Given the description of an element on the screen output the (x, y) to click on. 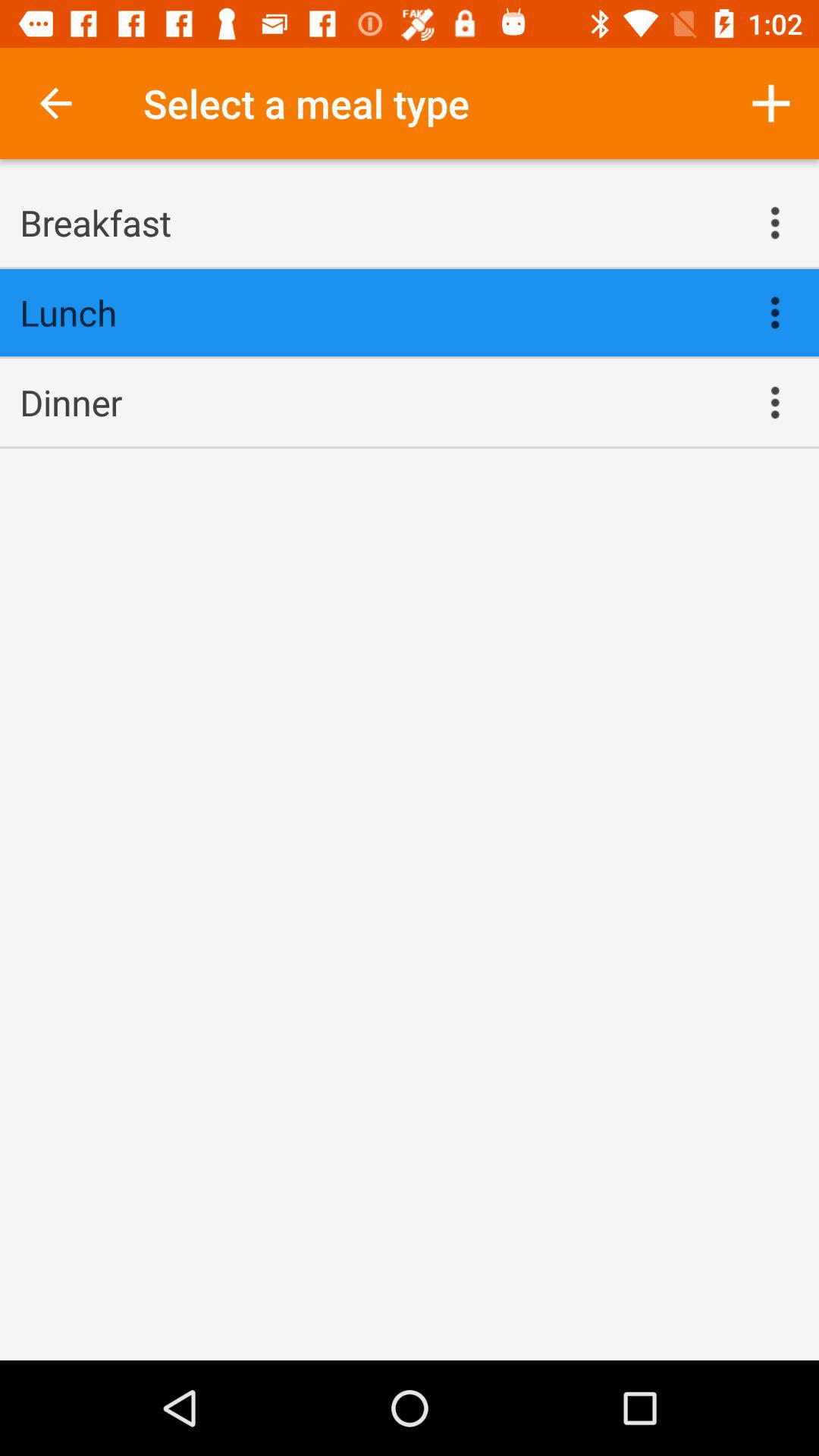
flip to dinner (375, 402)
